Given the description of an element on the screen output the (x, y) to click on. 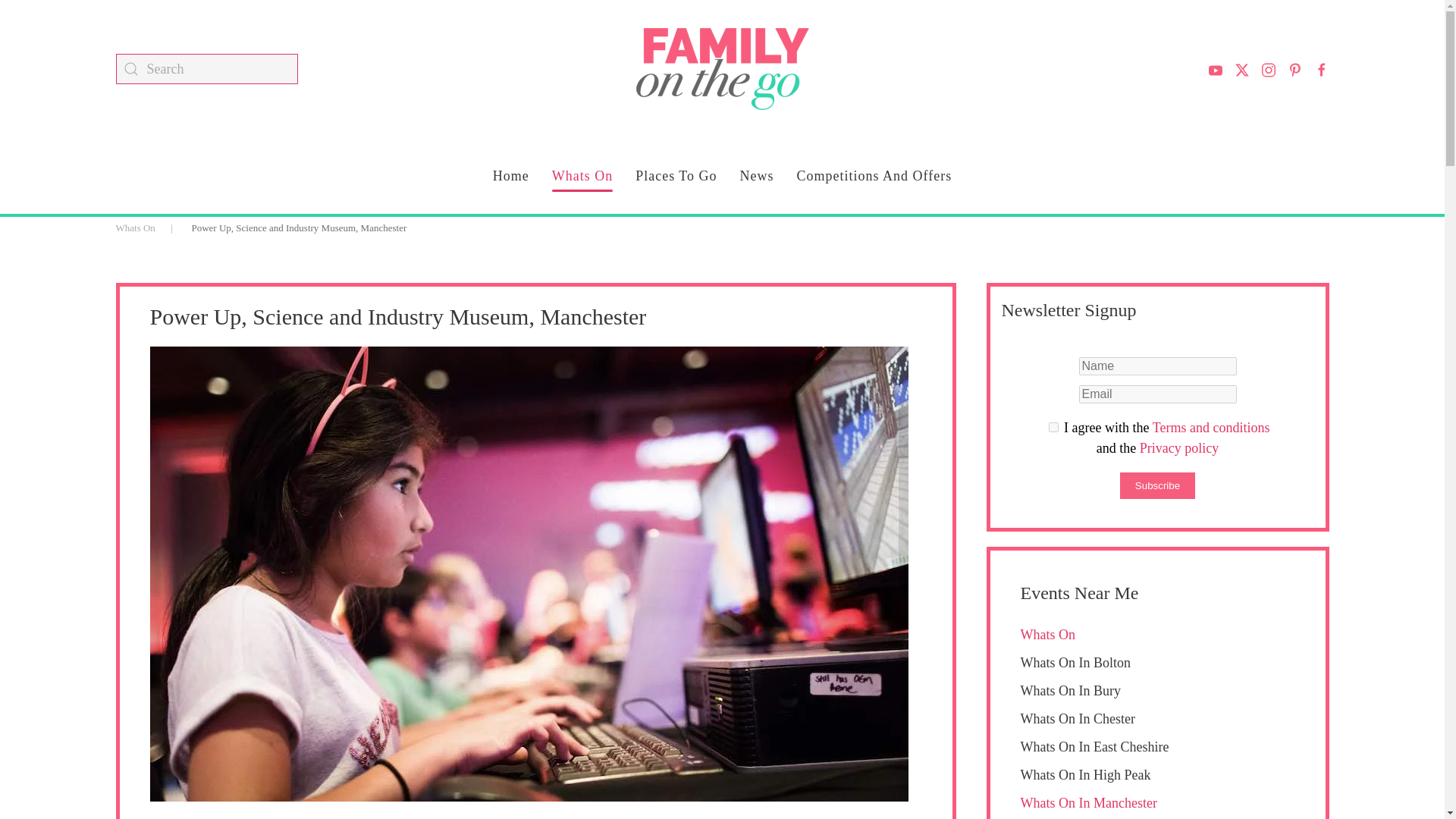
Terms and conditions (1053, 427)
Places To Go (675, 175)
Terms and conditions (1211, 427)
on (1053, 427)
Privacy policy (1179, 447)
